Given the description of an element on the screen output the (x, y) to click on. 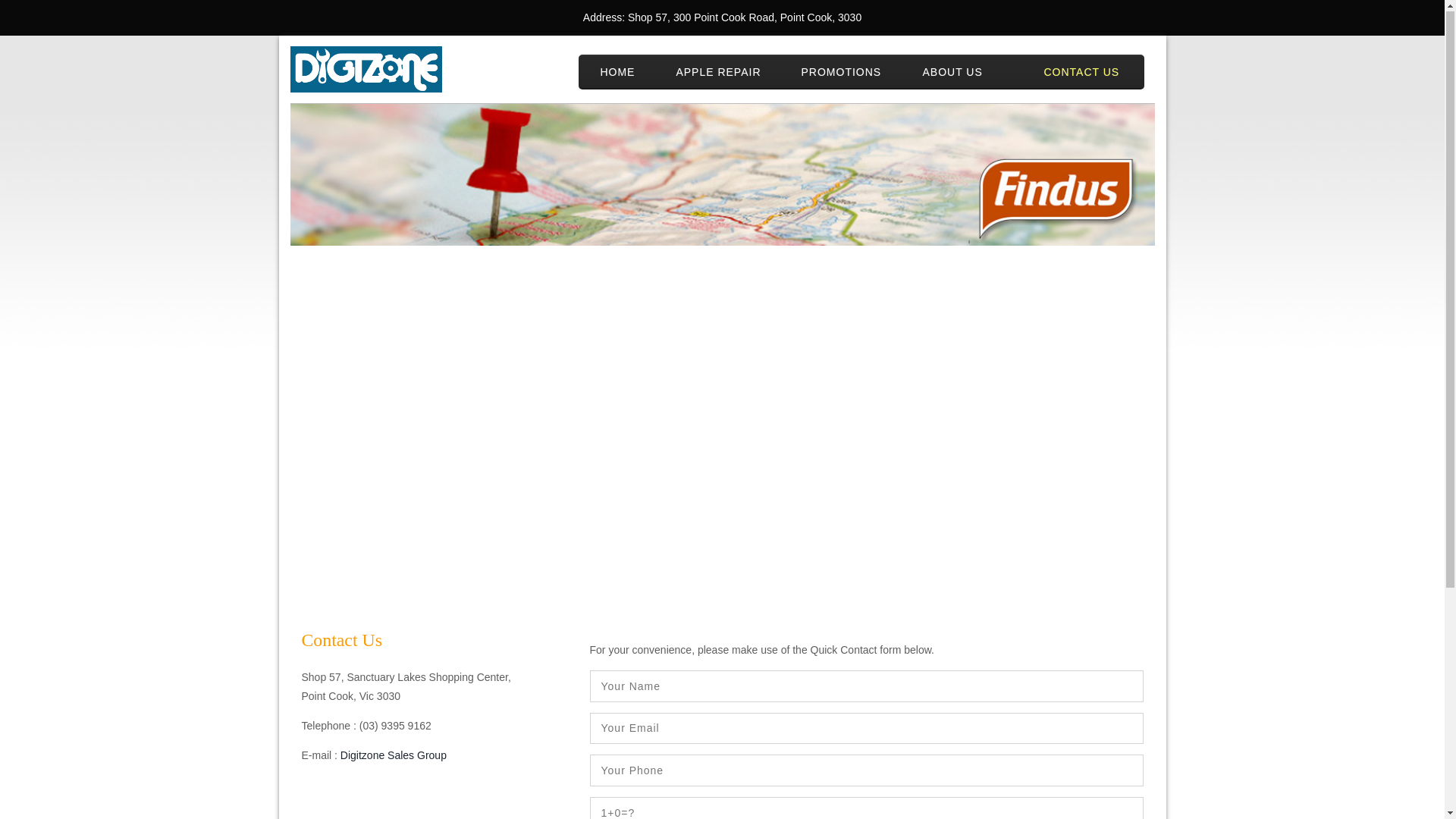
HOME Element type: text (615, 72)
find us Element type: hover (721, 175)
Digitzone Sales Group Element type: text (393, 755)
APPLE REPAIR Element type: text (716, 72)
CONTACT US Element type: text (1080, 72)
PROMOTIONS Element type: text (839, 72)
ABOUT US Element type: text (950, 72)
